Given the description of an element on the screen output the (x, y) to click on. 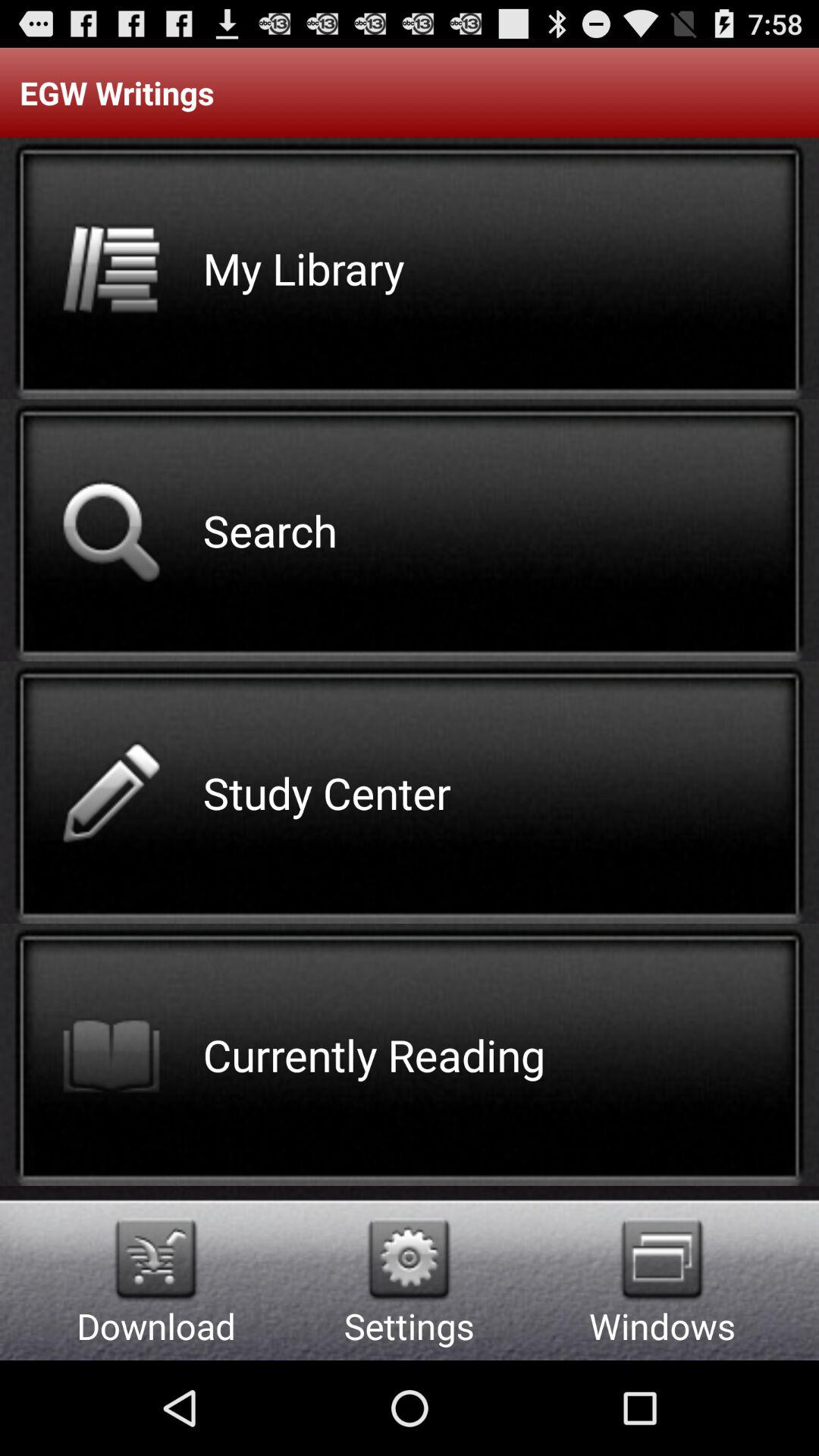
switch the windows option (662, 1258)
